Given the description of an element on the screen output the (x, y) to click on. 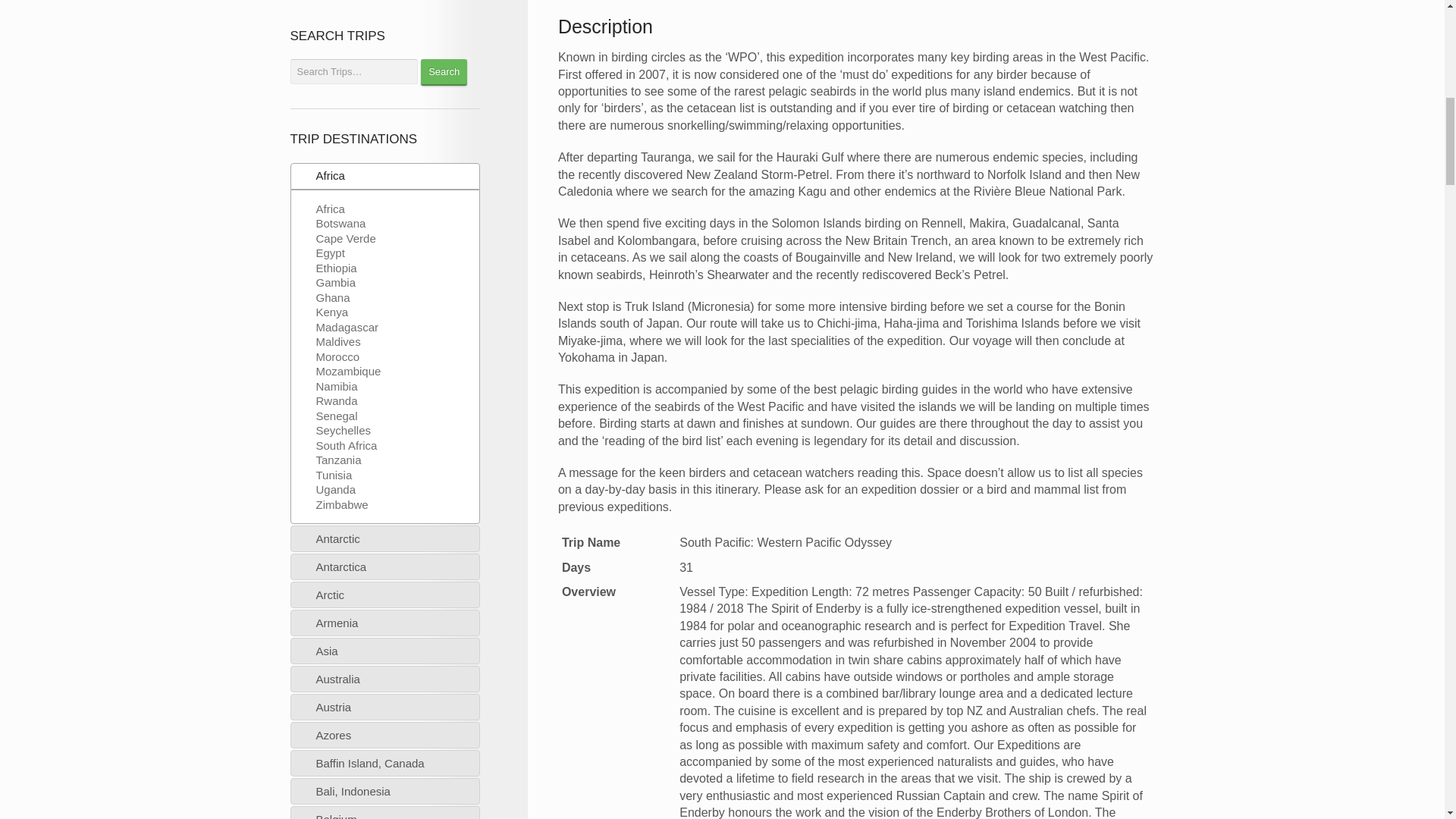
Search (443, 71)
Search (443, 71)
